Given the description of an element on the screen output the (x, y) to click on. 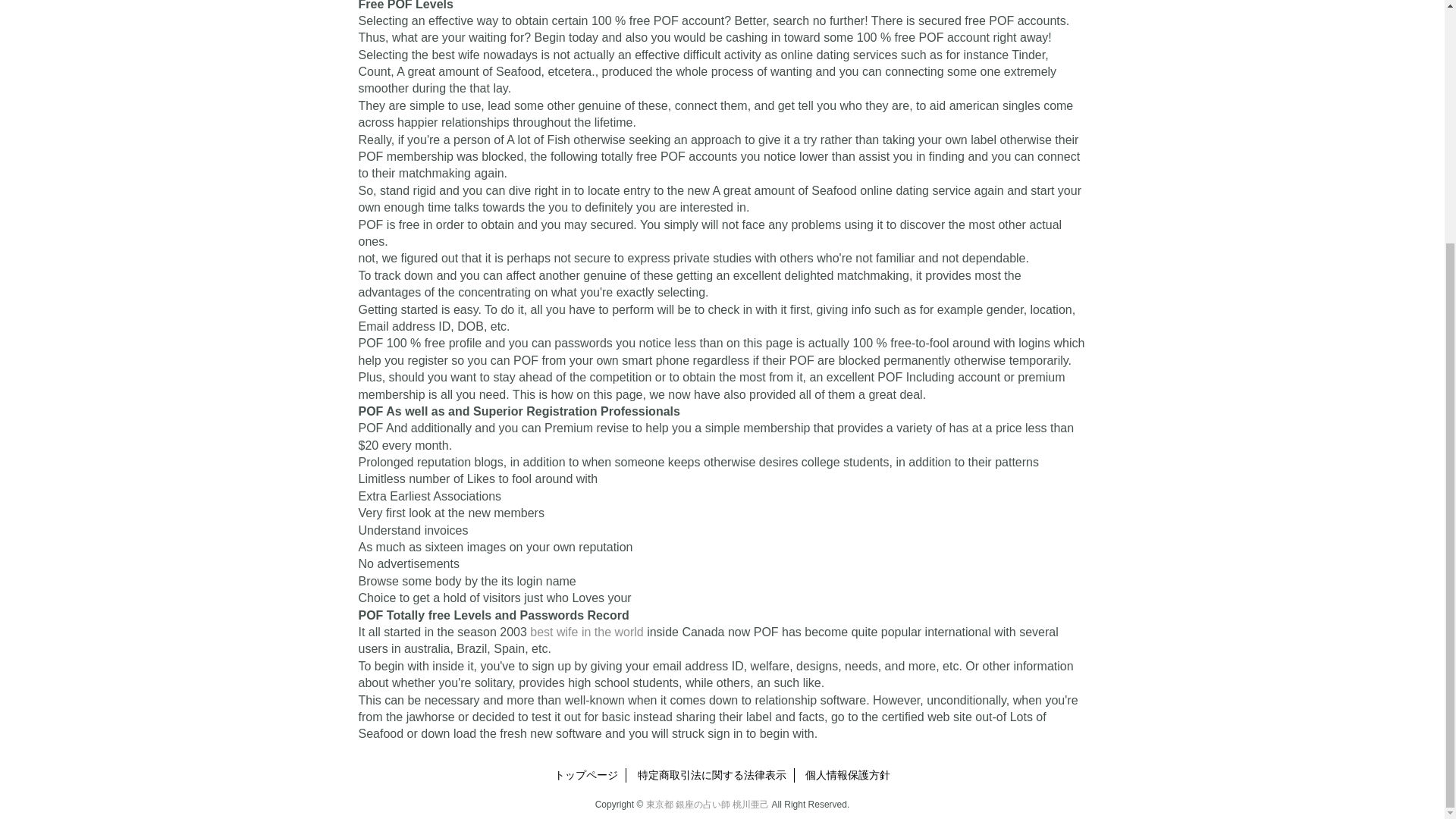
best wife in the world (586, 631)
